Given the description of an element on the screen output the (x, y) to click on. 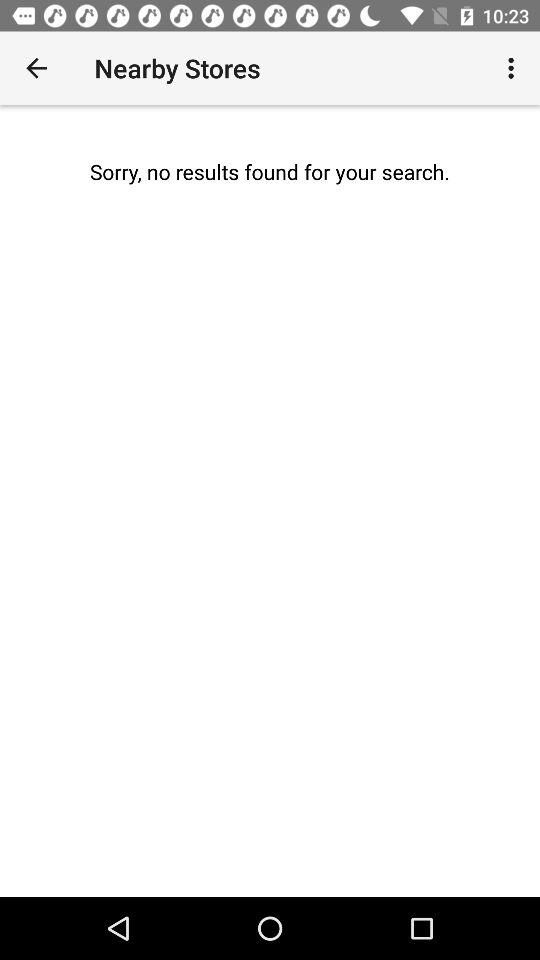
launch the item next to nearby stores icon (513, 67)
